Given the description of an element on the screen output the (x, y) to click on. 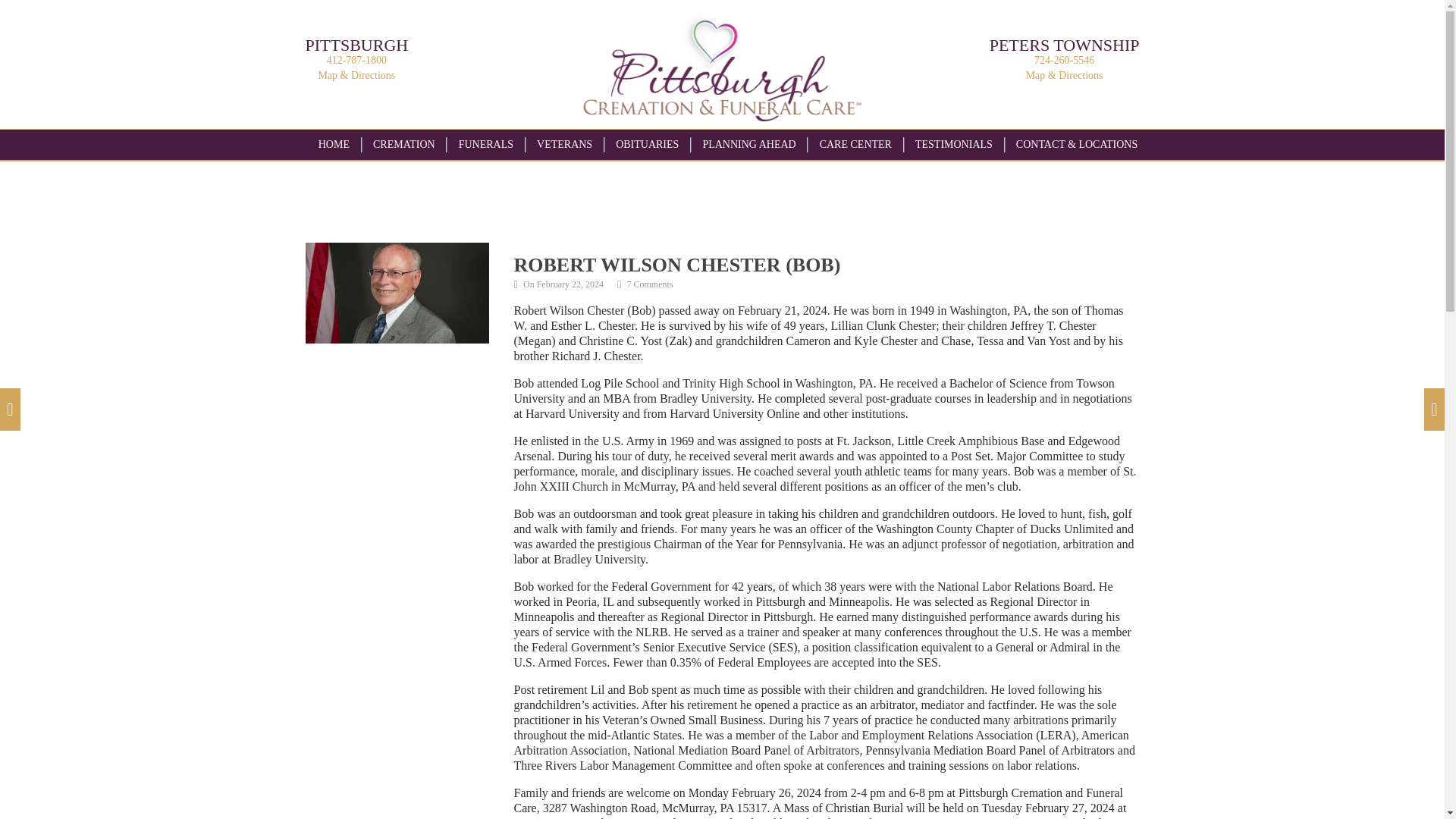
PLANNING AHEAD (747, 144)
OBITUARIES (646, 144)
TESTIMONIALS (953, 144)
Peters Township: 724-260-5546 (210, 6)
VETERANS (564, 144)
724-260-5546 (1063, 60)
Pittsburgh: 412-787-1800 (62, 6)
412-787-1800 (356, 60)
CREMATION (403, 144)
CARE CENTER (855, 144)
